Given the description of an element on the screen output the (x, y) to click on. 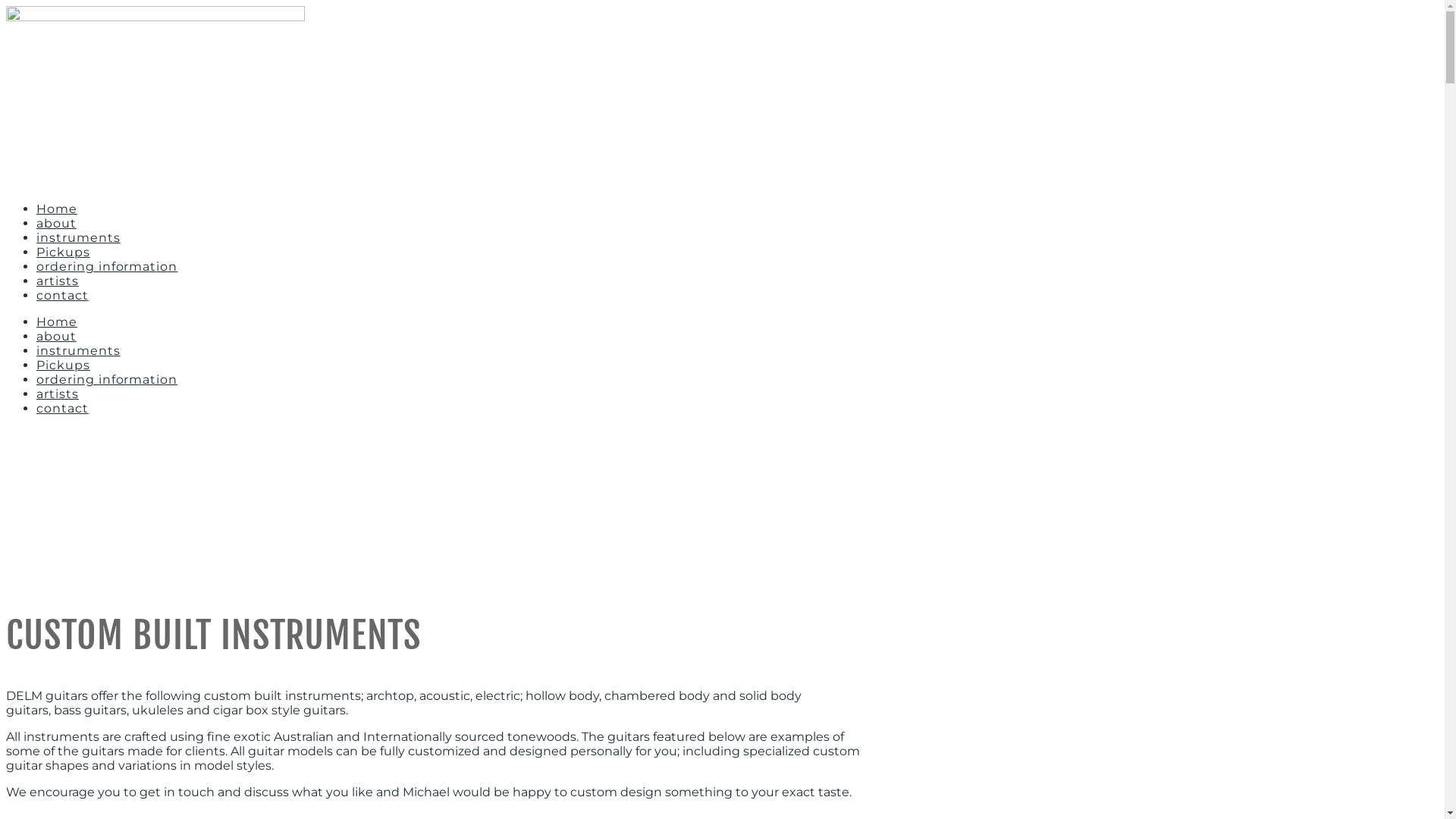
ordering information Element type: text (106, 266)
artists Element type: text (57, 280)
Home Element type: text (56, 208)
artists Element type: text (57, 393)
contact Element type: text (62, 295)
ordering information Element type: text (106, 379)
instruments Element type: text (78, 350)
Pickups Element type: text (63, 364)
contact Element type: text (62, 408)
instruments Element type: text (78, 237)
about Element type: text (56, 336)
about Element type: text (56, 223)
Pickups Element type: text (63, 251)
Home Element type: text (56, 321)
